Given the description of an element on the screen output the (x, y) to click on. 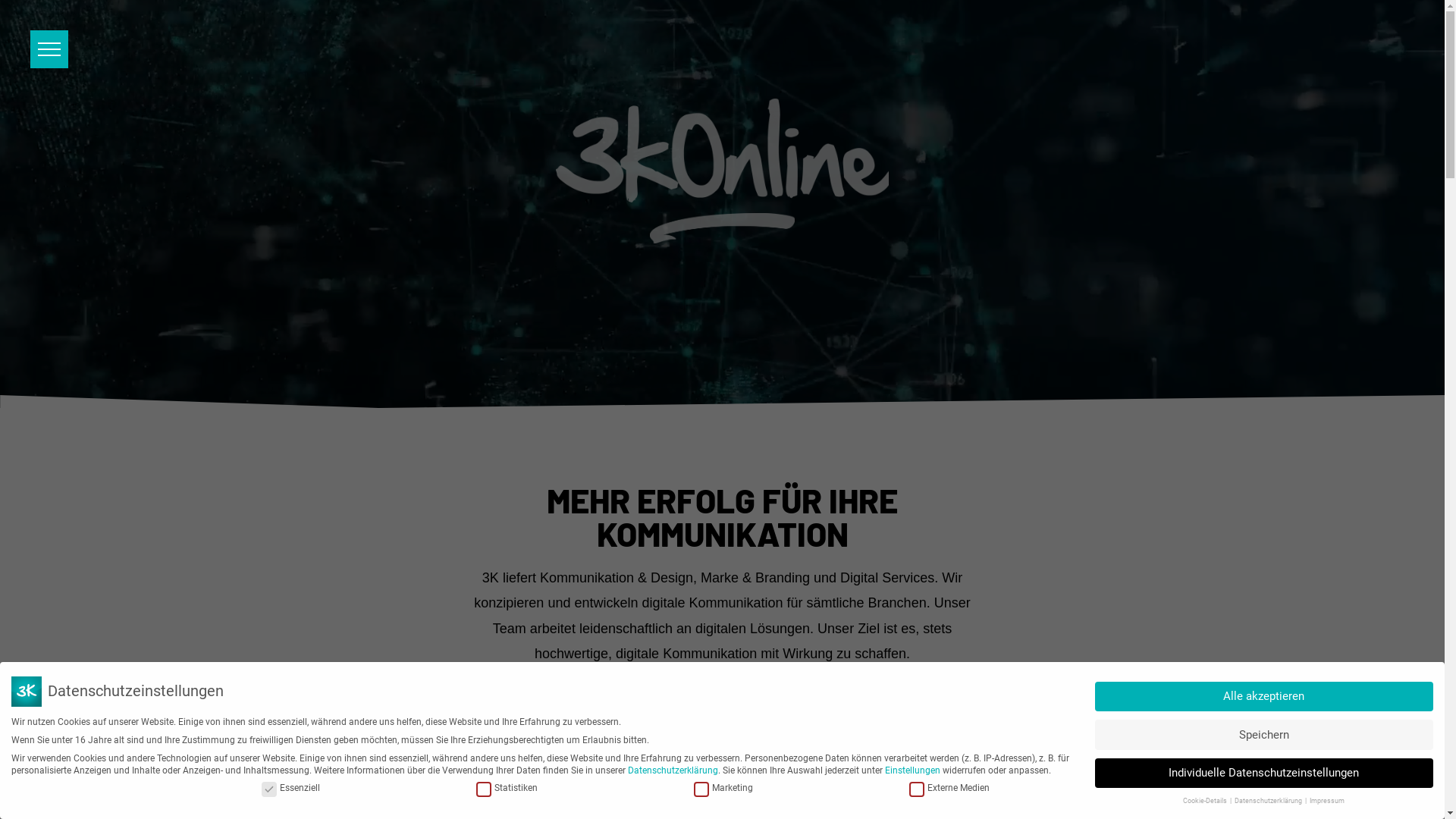
Individuelle Datenschutzeinstellungen Element type: text (1264, 772)
Einstellungen Element type: text (912, 770)
Projektanfrage Element type: text (835, 731)
Alle akzeptieren Element type: text (1264, 696)
Unsere Leistungen Element type: text (608, 731)
digitale Kommunikation Element type: text (685, 653)
Cookie-Details Element type: text (1205, 800)
Speichern Element type: text (1264, 734)
Digital Services Element type: text (885, 577)
Impressum Element type: text (1326, 800)
Werbeagentur Stuttgart Element type: text (635, 451)
